Given the description of an element on the screen output the (x, y) to click on. 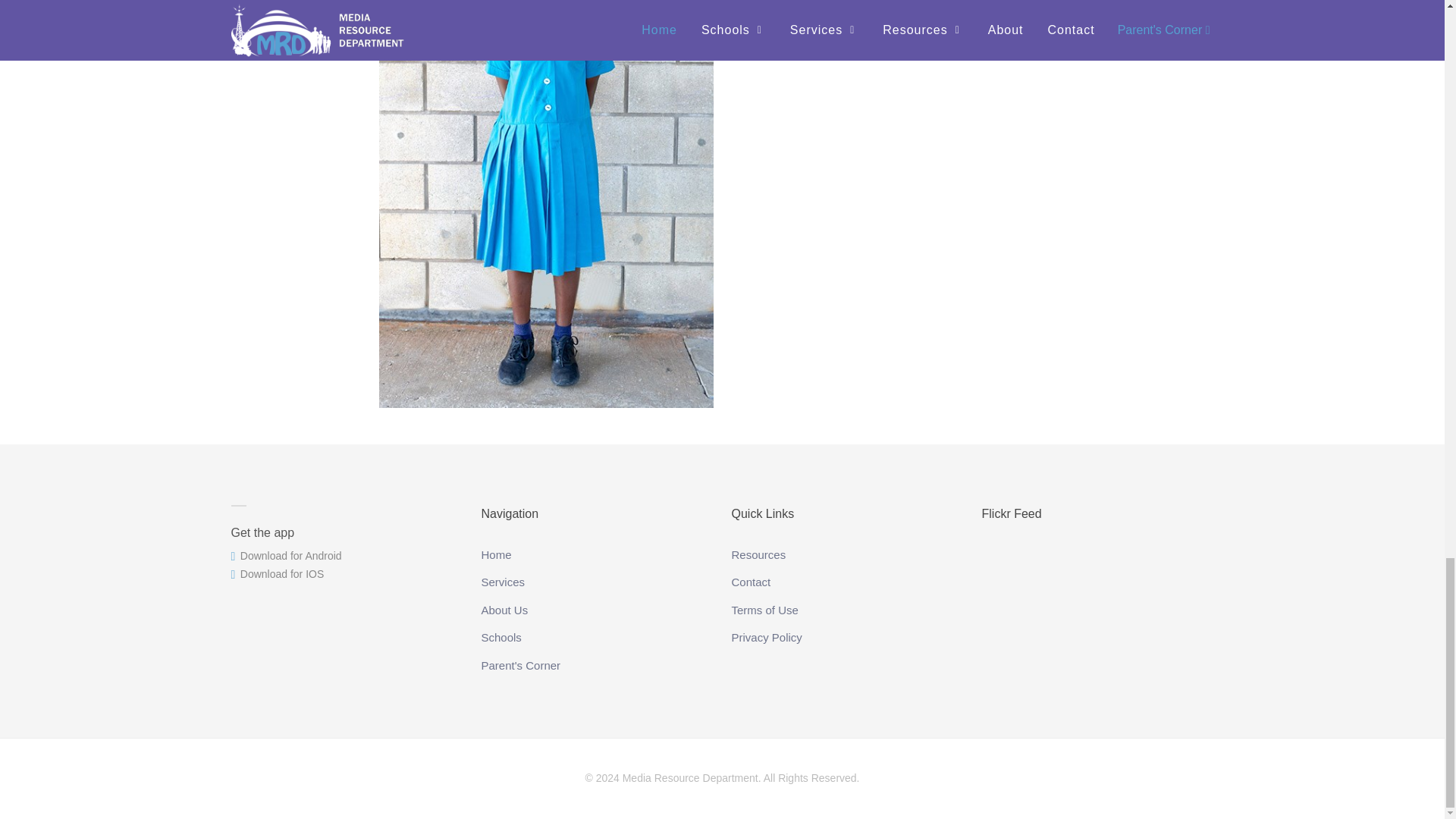
Services (503, 580)
Download for IOS (276, 573)
Home (496, 553)
Download for Android (285, 554)
